Given the description of an element on the screen output the (x, y) to click on. 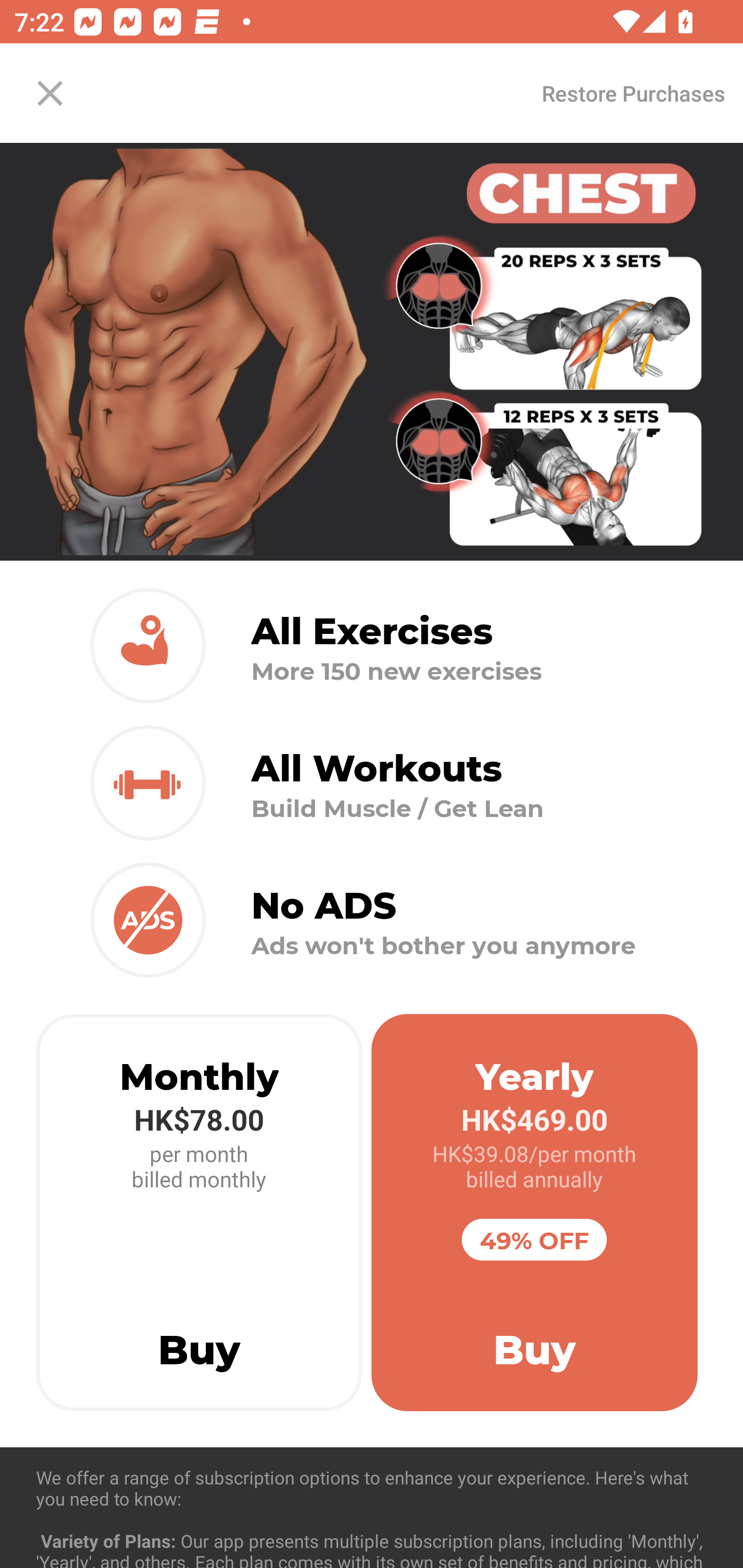
Restore Purchases (632, 92)
Monthly HK$78.00 per month
billed monthly Buy (199, 1212)
